Given the description of an element on the screen output the (x, y) to click on. 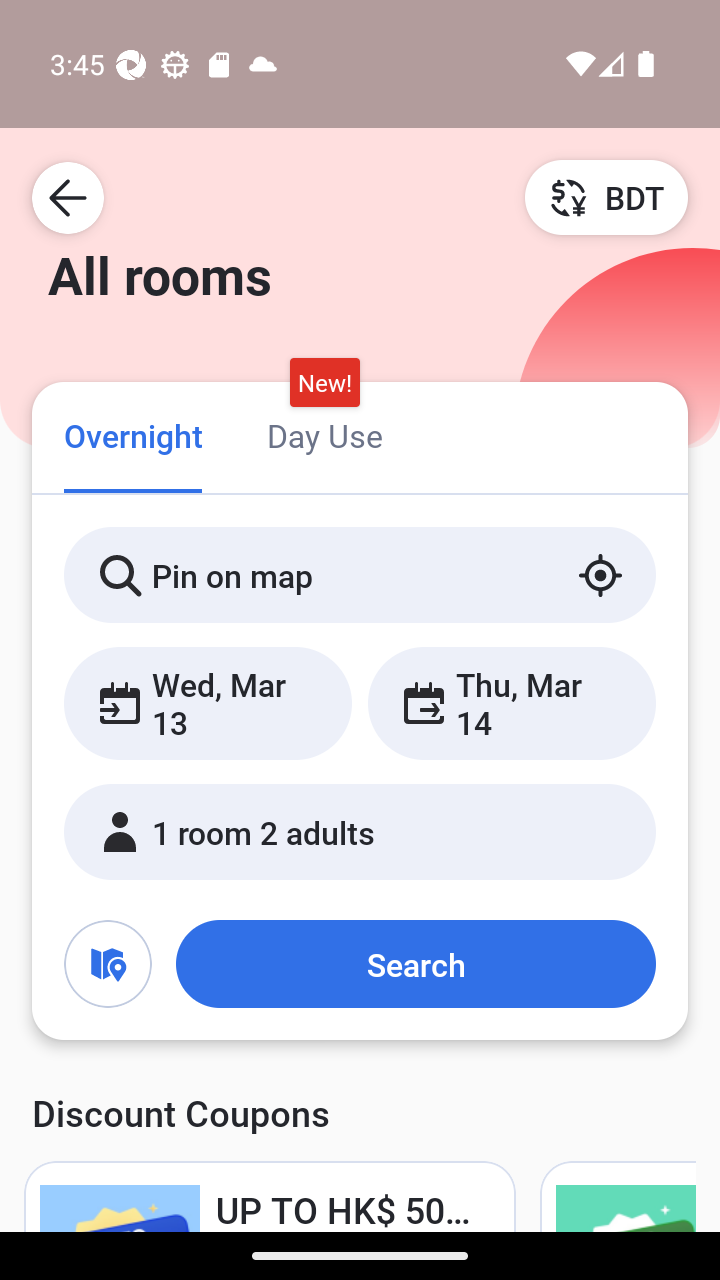
BDT (606, 197)
New! (324, 383)
Day Use (324, 434)
Pin on map (359, 575)
Wed, Mar 13 (208, 703)
Thu, Mar 14 (511, 703)
1 room 2 adults (359, 831)
Search (415, 964)
